Given the description of an element on the screen output the (x, y) to click on. 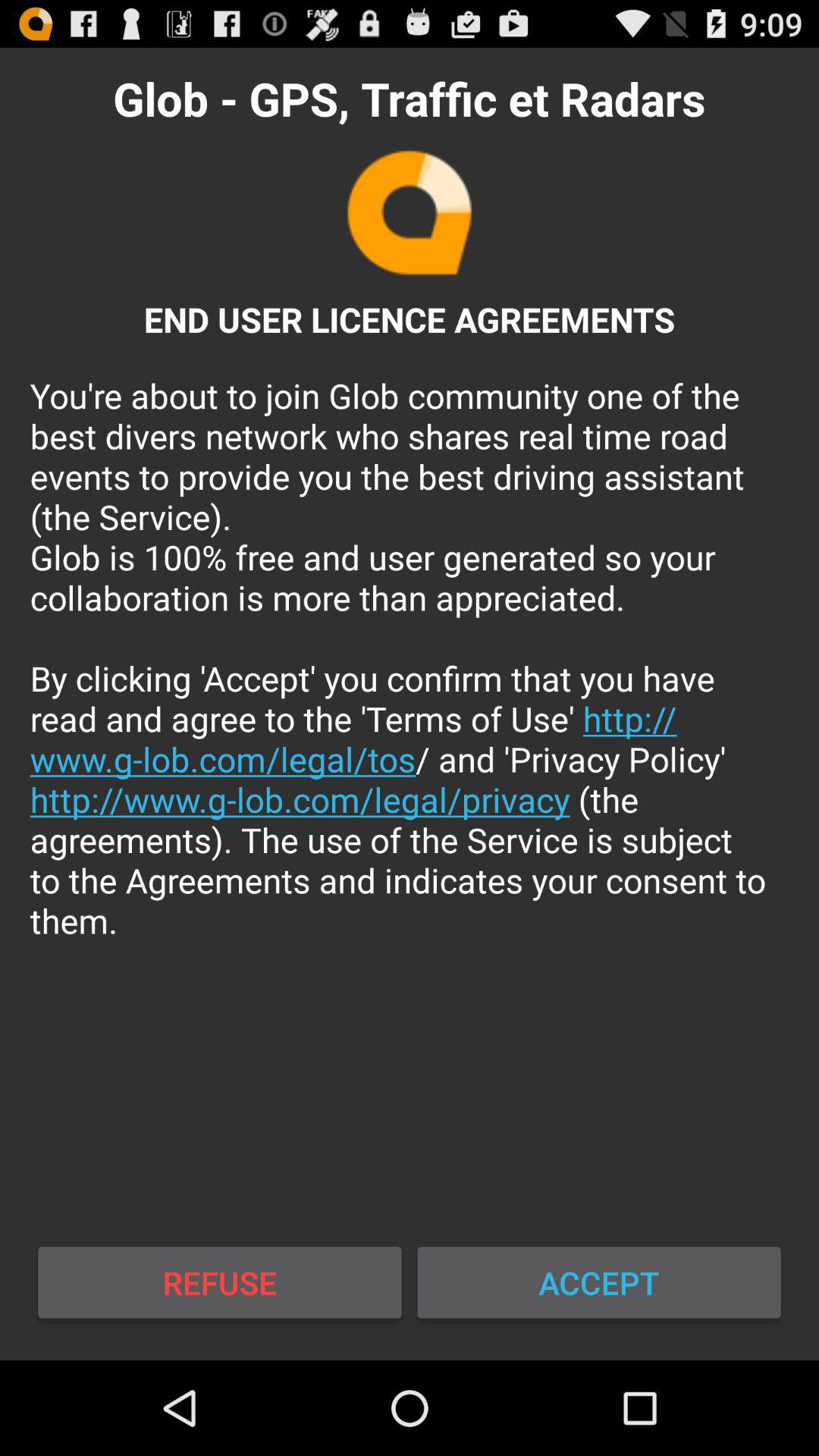
launch the item above the refuse button (409, 657)
